Given the description of an element on the screen output the (x, y) to click on. 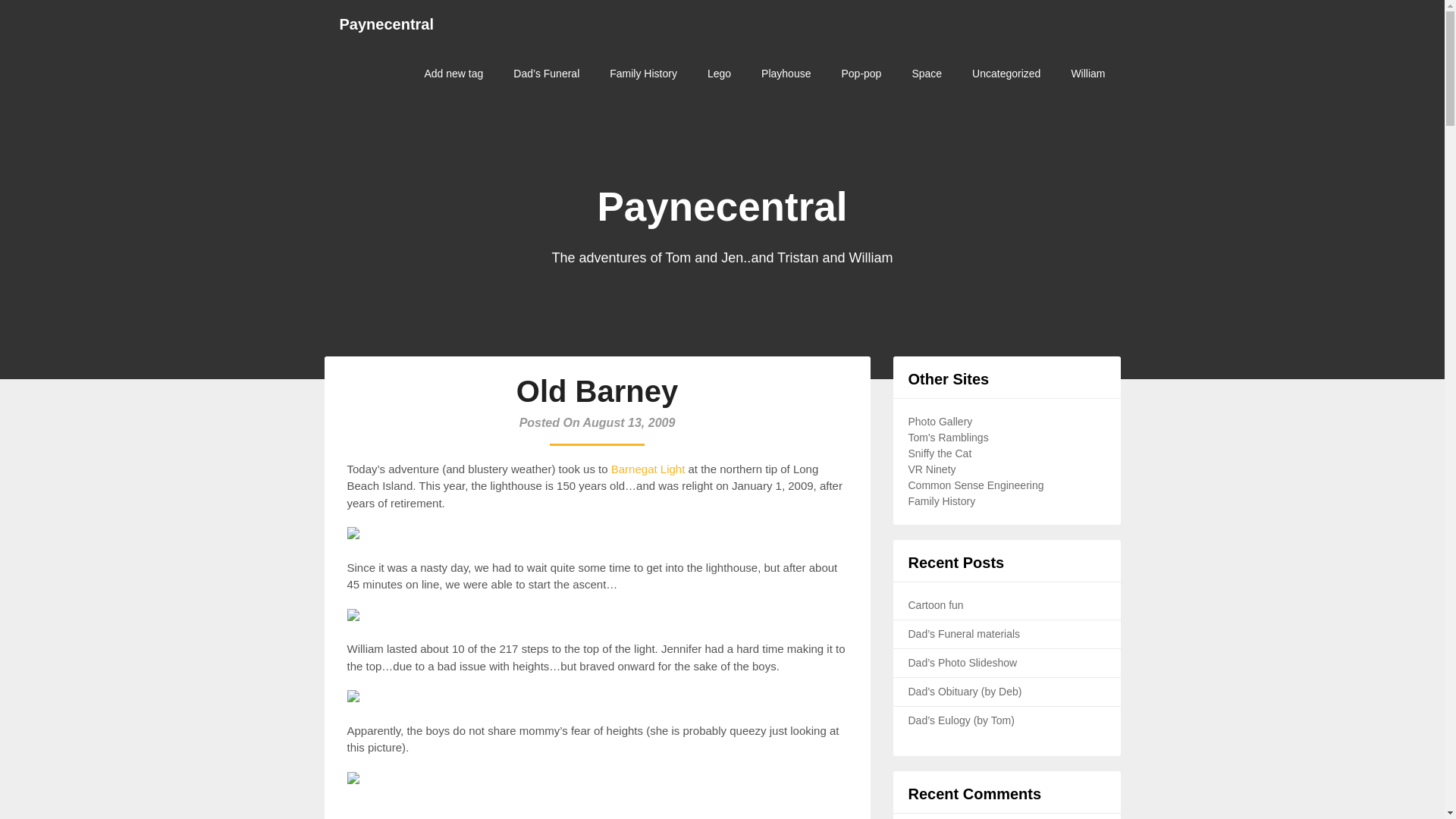
Paynecentral (386, 24)
Add new tag (454, 73)
Family History (643, 73)
Family History (941, 500)
Barnegat Light (649, 468)
Uncategorized (1005, 73)
Common Sense Engineering (975, 485)
Sniffy the Cat (940, 453)
Playhouse (785, 73)
Pop-pop (860, 73)
